Given the description of an element on the screen output the (x, y) to click on. 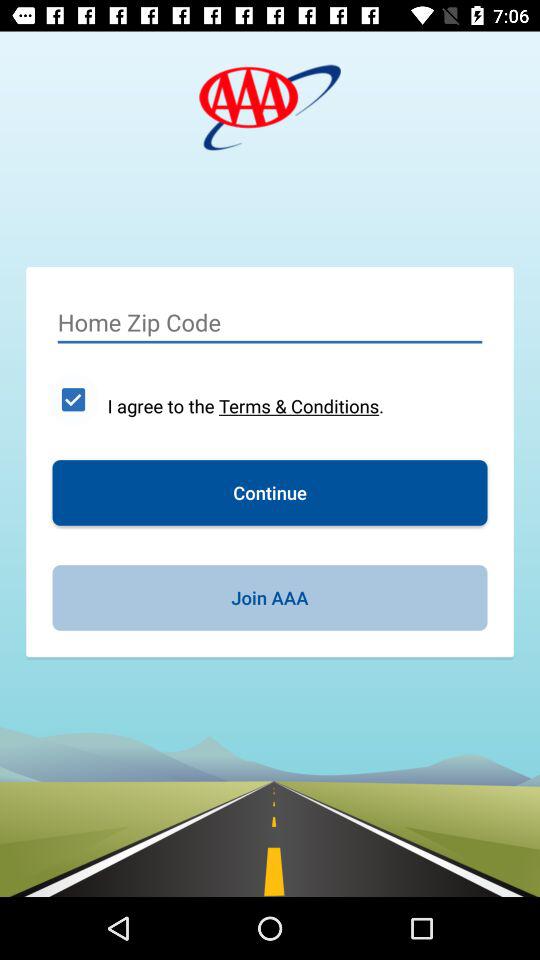
launch continue (269, 492)
